Given the description of an element on the screen output the (x, y) to click on. 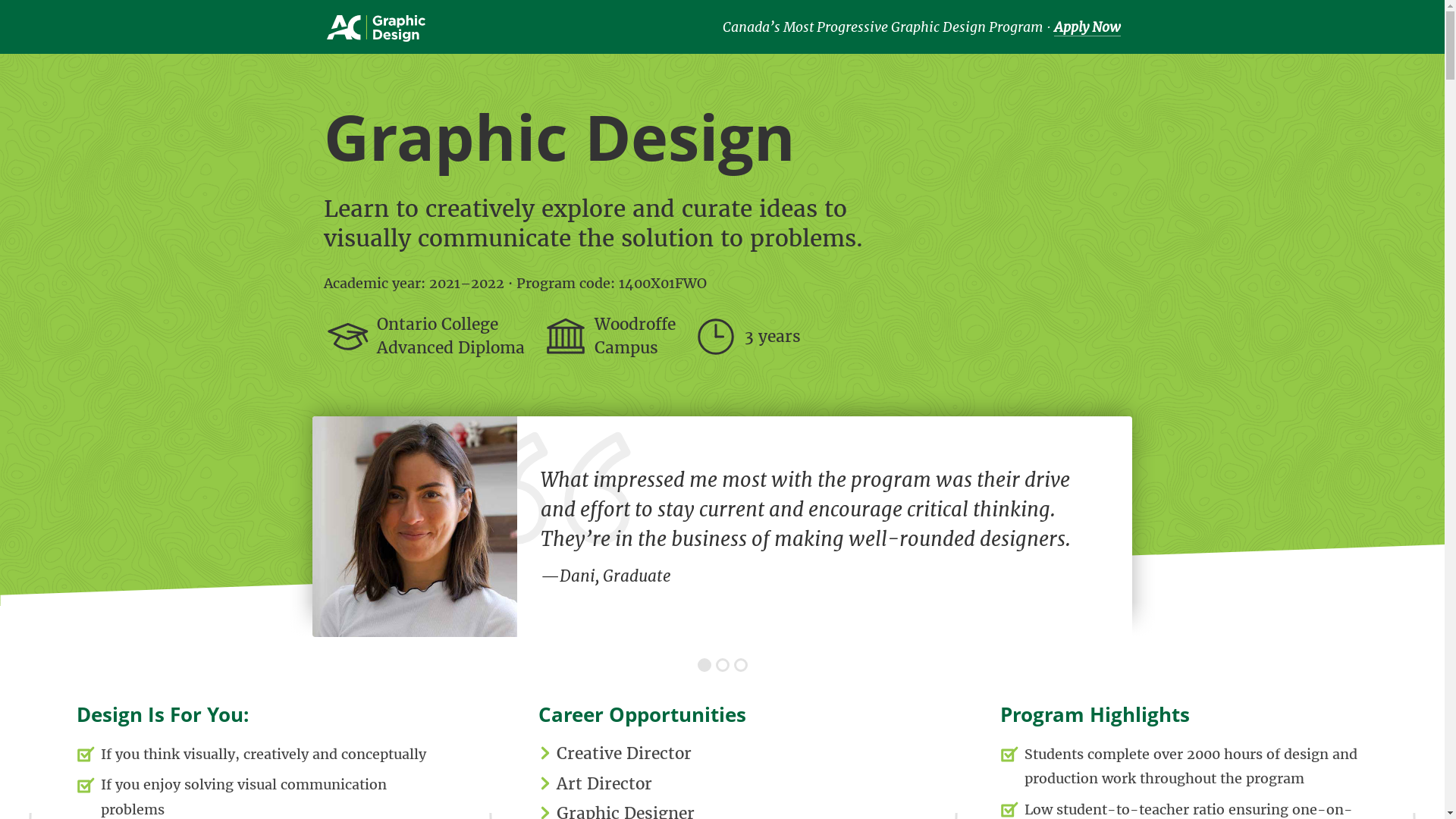
Show third testimonial Element type: text (740, 664)
Show second testimonial Element type: text (722, 664)
Show first testimonial Element type: text (704, 664)
Apply Now Element type: text (1087, 27)
